Given the description of an element on the screen output the (x, y) to click on. 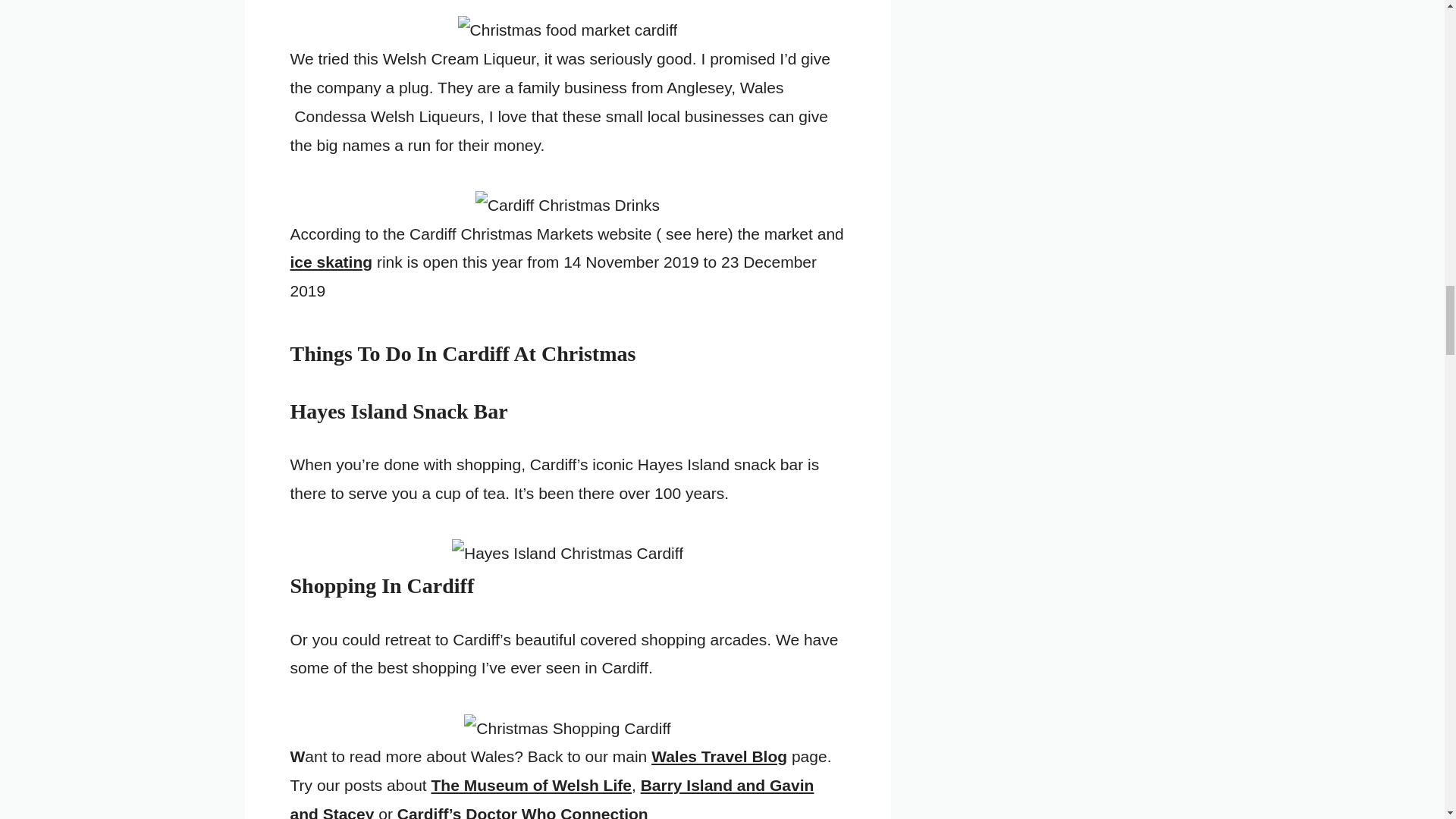
Cardiff Doctor Who (522, 812)
The museum of Welsh Life (530, 784)
Wales Travel Blog (718, 755)
ice skating (330, 262)
Barry Island (551, 797)
The Museum of Welsh Life (530, 784)
Barry Island and Gavin and Stacey (551, 797)
